Given the description of an element on the screen output the (x, y) to click on. 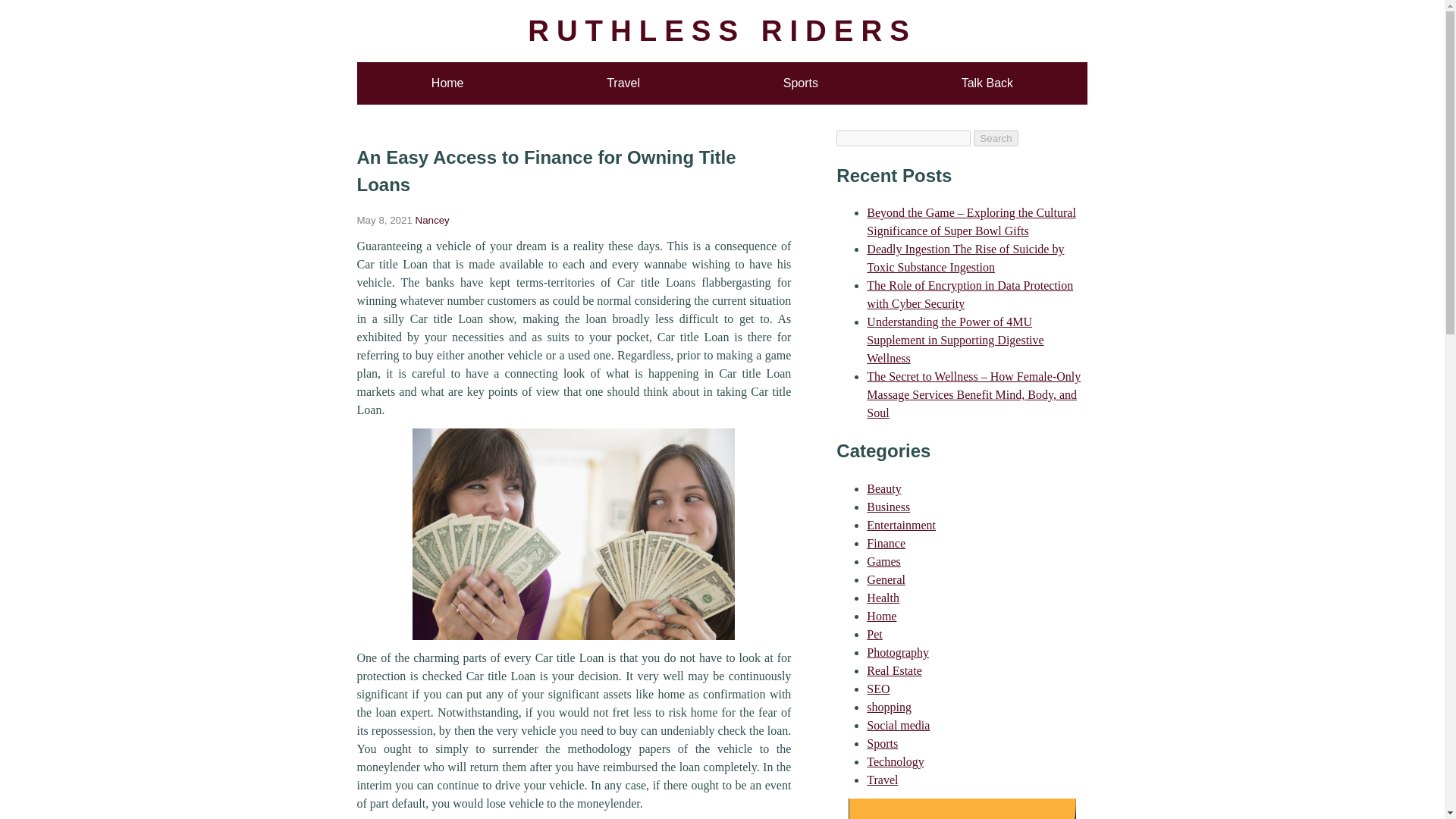
Entertainment (901, 524)
Beauty (883, 488)
Photography (897, 652)
Business (888, 506)
Search (995, 138)
General (885, 579)
Travel (623, 82)
Sports (882, 743)
shopping (888, 707)
Home (881, 615)
